Given the description of an element on the screen output the (x, y) to click on. 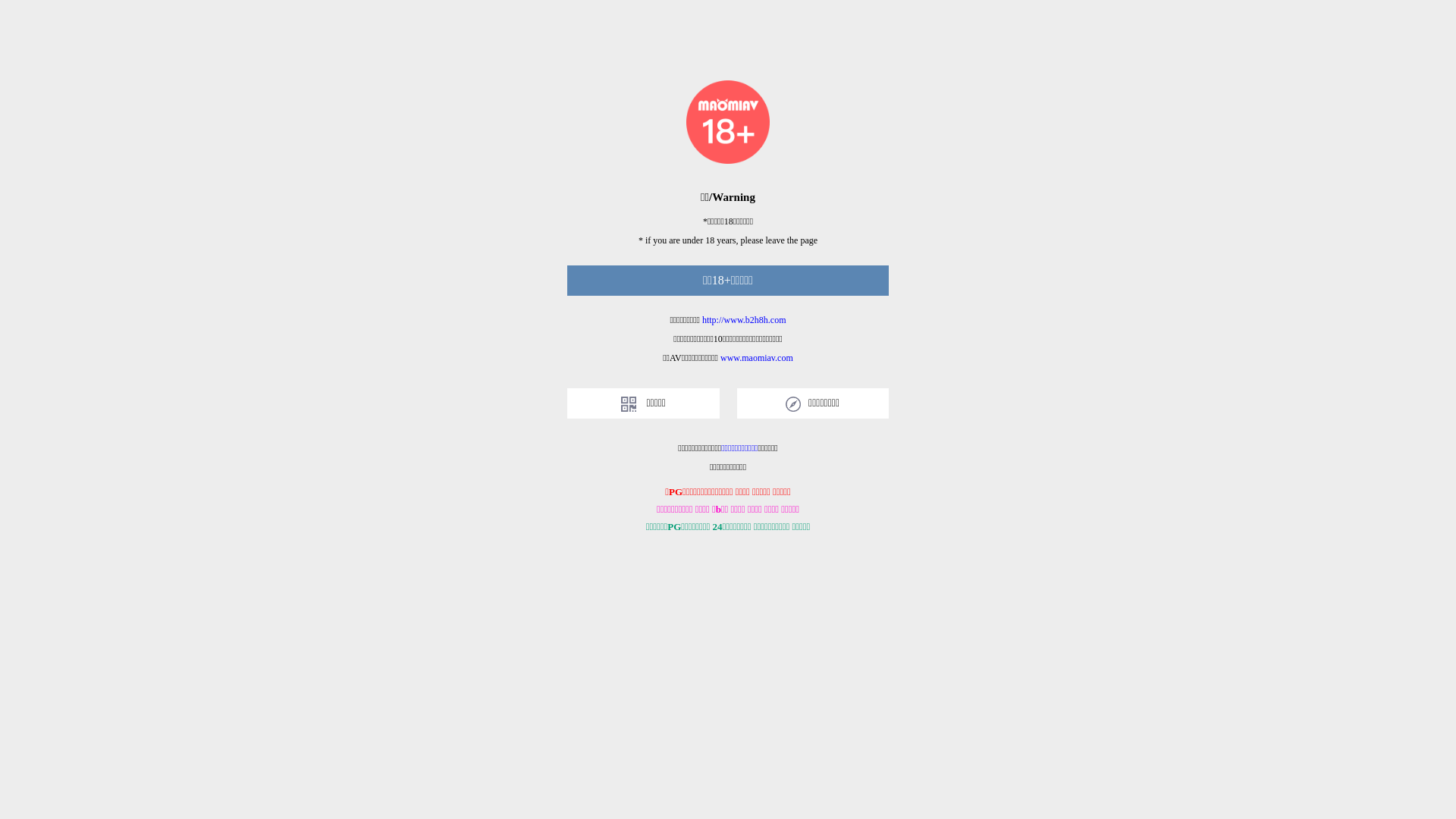
www.maomiav.com Element type: text (756, 357)
http://www.b2h8h.com Element type: text (744, 319)
